Given the description of an element on the screen output the (x, y) to click on. 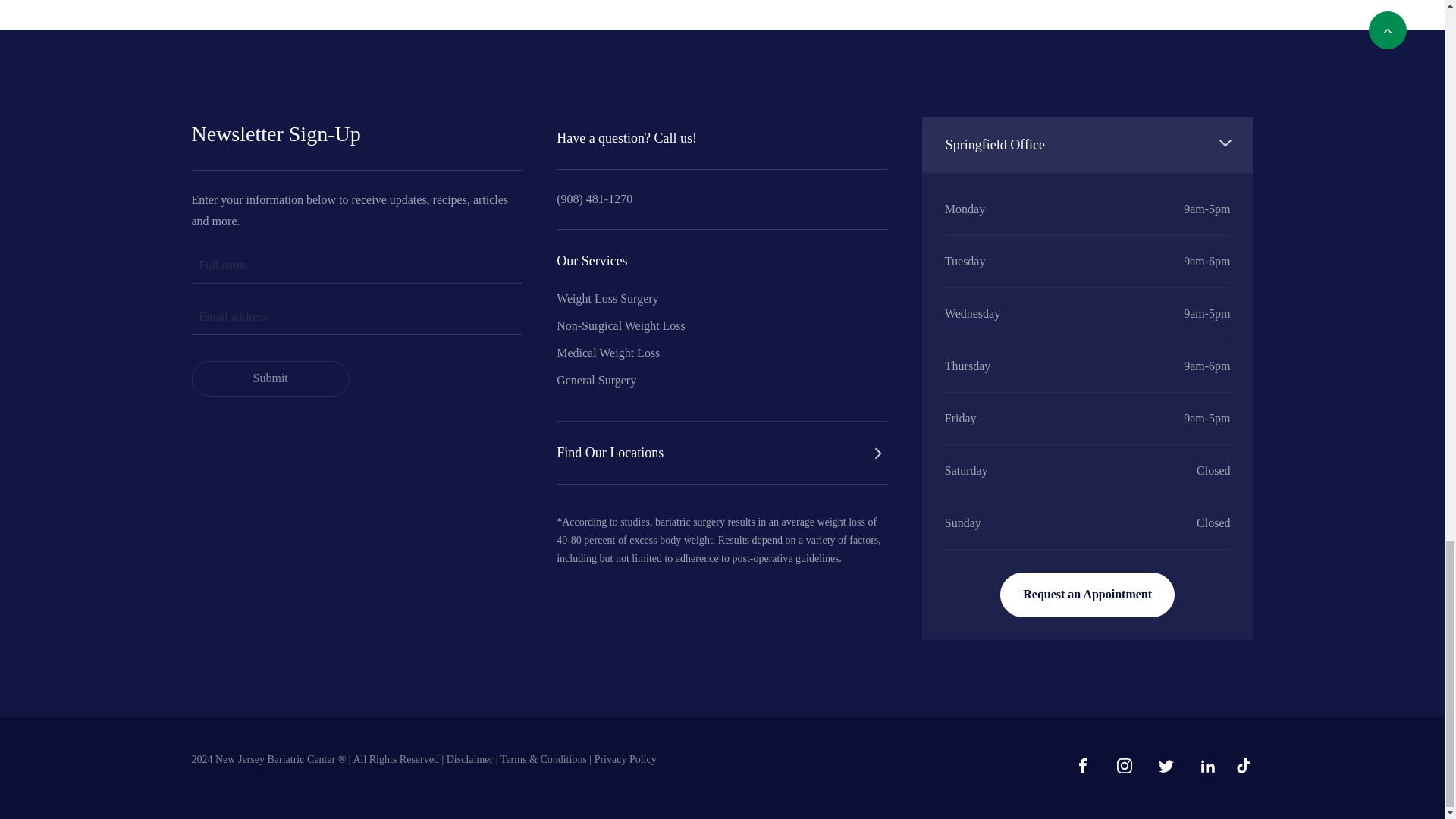
Back to top (1387, 30)
